Given the description of an element on the screen output the (x, y) to click on. 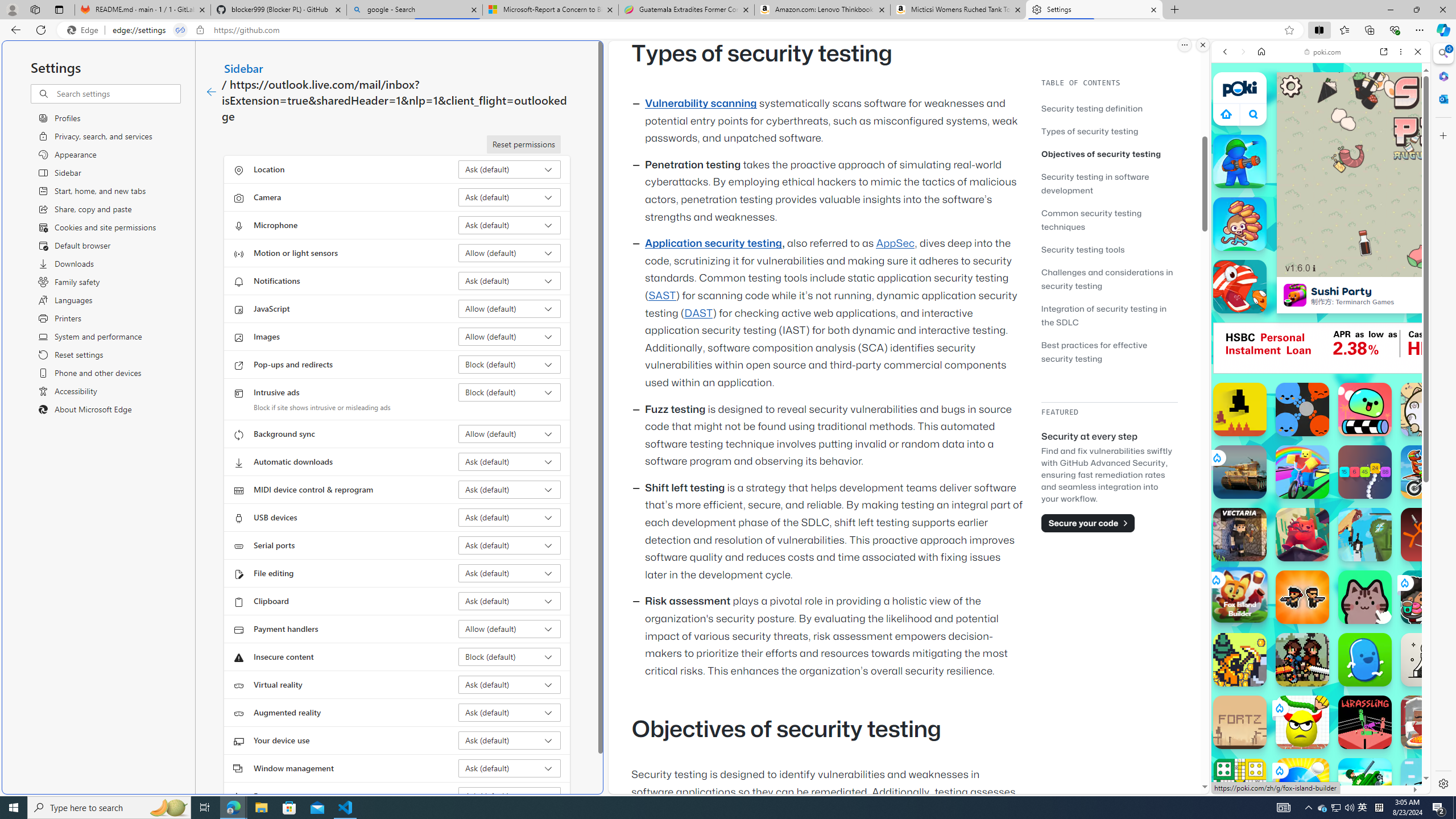
Show More Car Games (1390, 268)
Sidebar (243, 67)
Hypersnake (1364, 471)
Location Ask (default) (509, 169)
Rooftop Snipers (1427, 784)
Getaway Shootout (1364, 534)
Zombie Rush (1302, 597)
Reset permissions (523, 144)
Games for Girls (1320, 407)
